Given the description of an element on the screen output the (x, y) to click on. 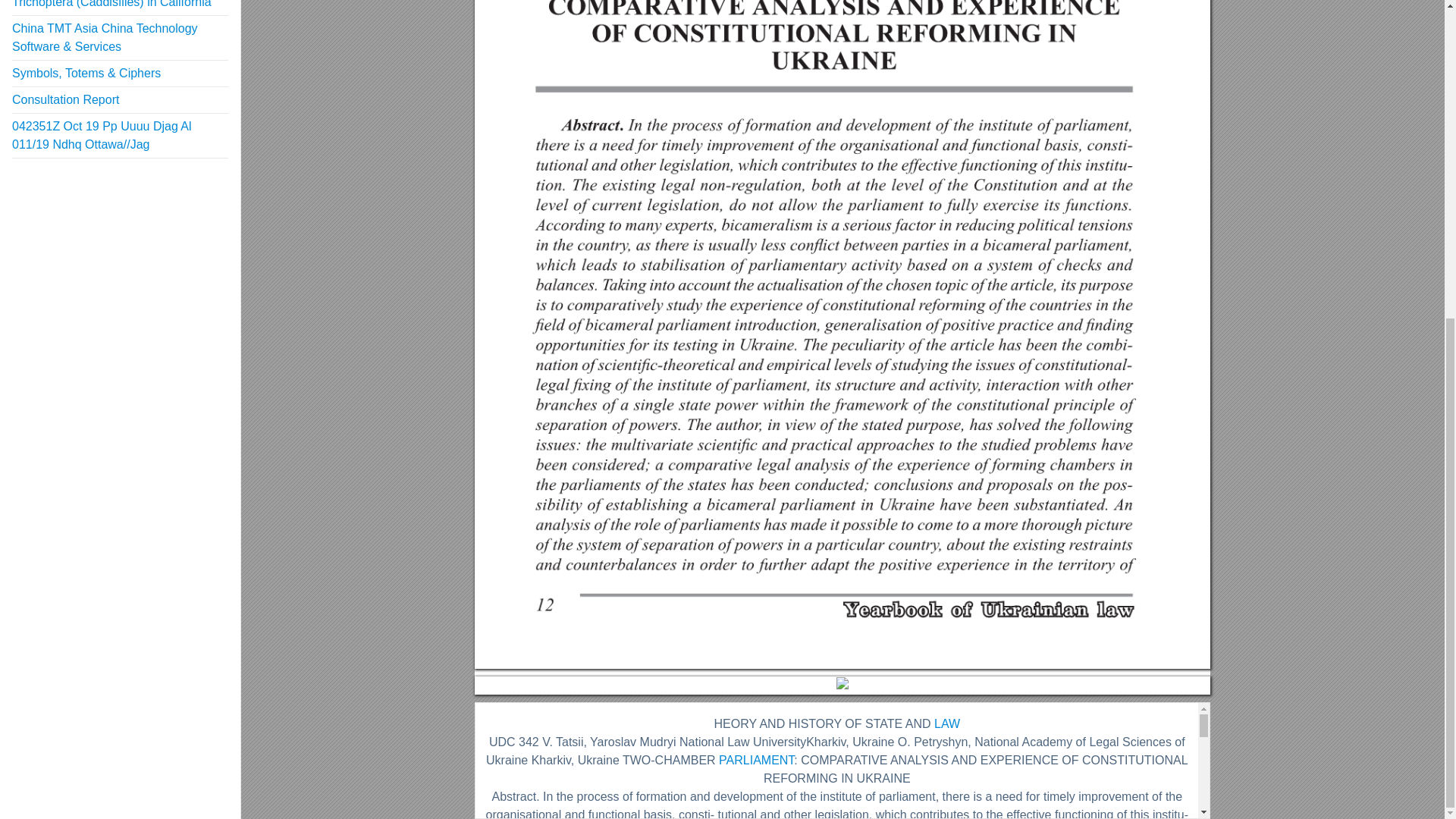
LAW (946, 723)
PARLIAMENT (756, 759)
Consultation Report (65, 99)
